Given the description of an element on the screen output the (x, y) to click on. 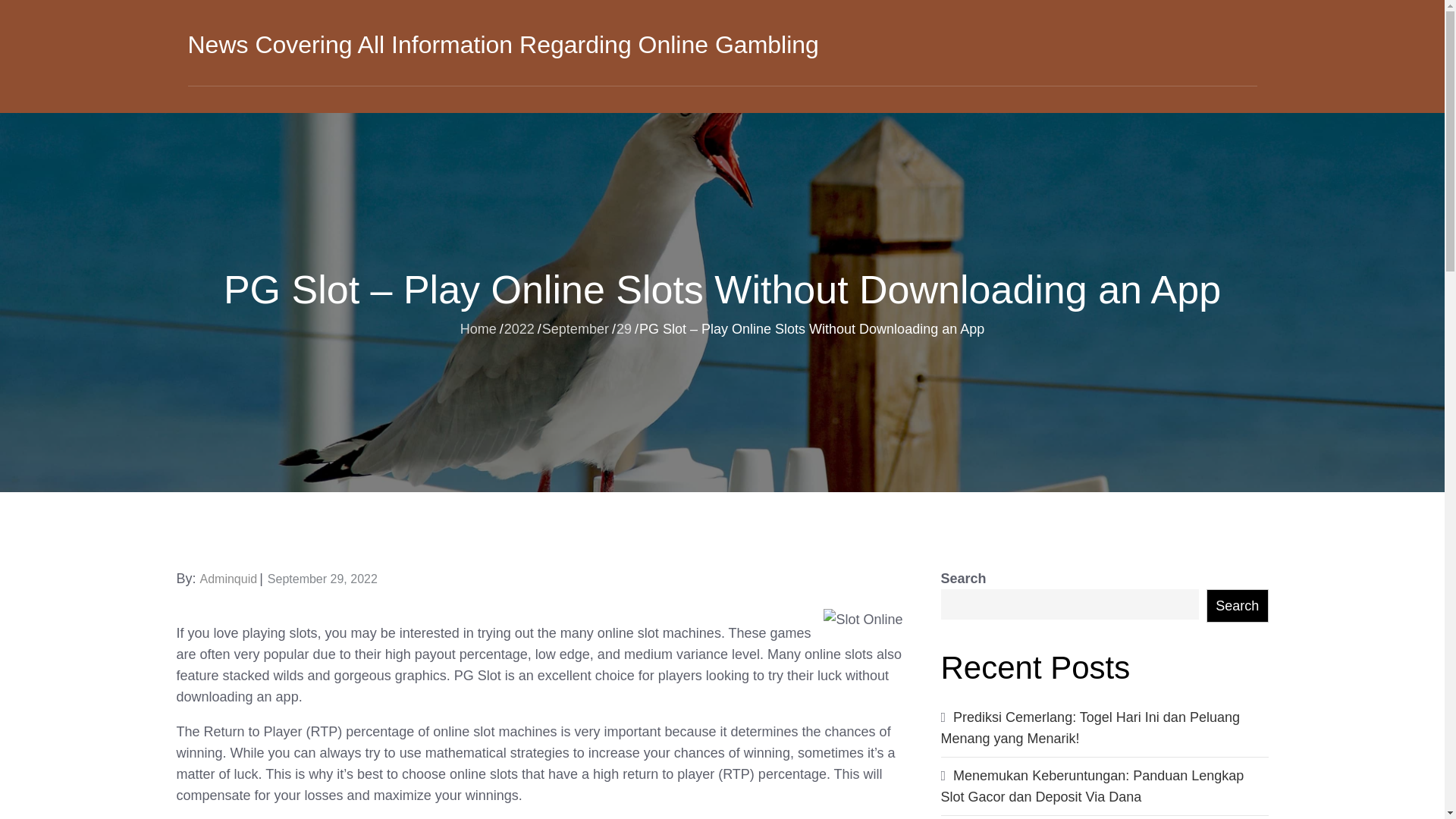
September (574, 328)
29 (623, 328)
Adminquid (228, 578)
Search (1237, 605)
News Covering All Information Regarding Online Gambling (502, 44)
September 29, 2022 (322, 578)
2022 (518, 328)
Home (478, 328)
